Given the description of an element on the screen output the (x, y) to click on. 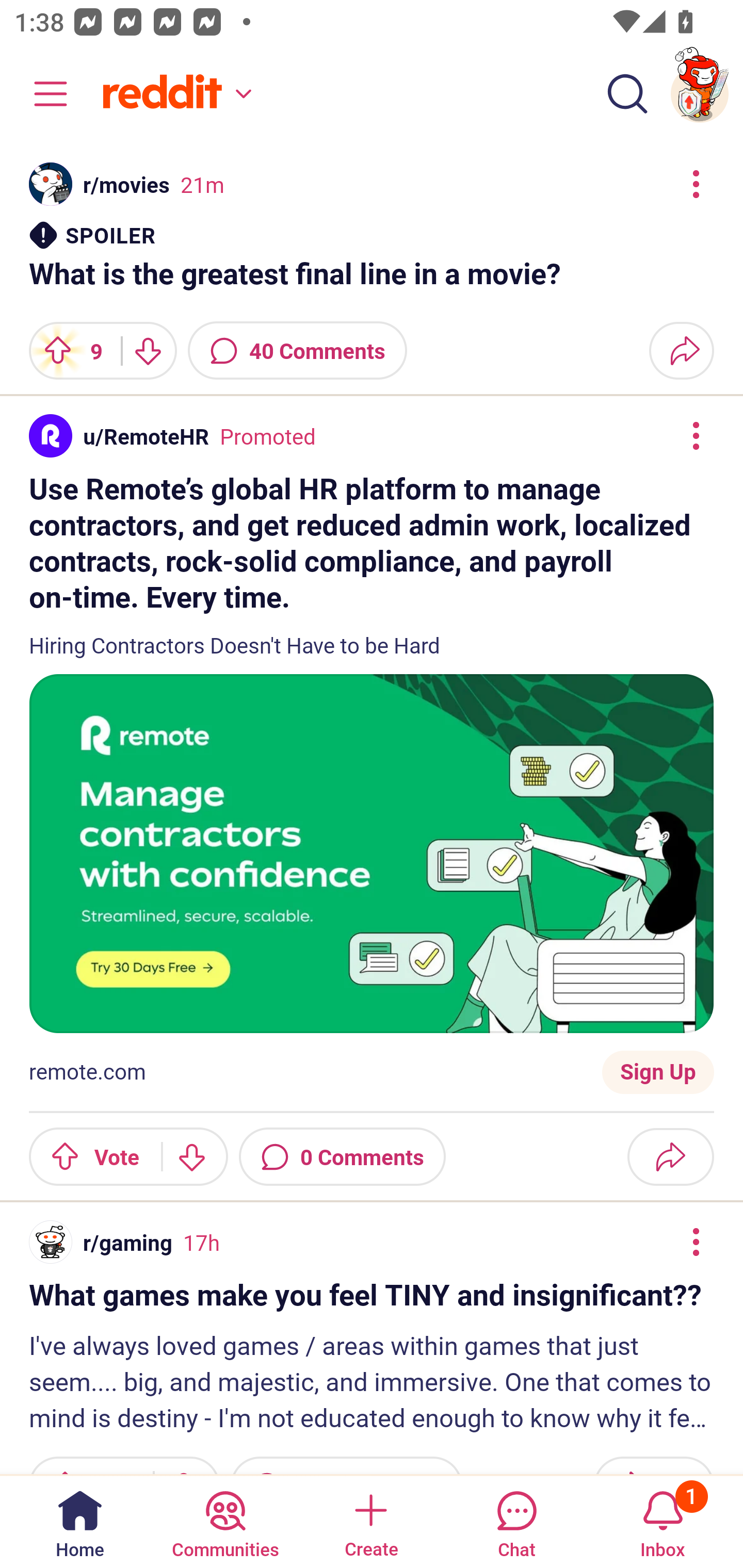
Search (626, 93)
TestAppium002 account (699, 93)
Community menu (41, 94)
Home feed (173, 94)
Home (80, 1520)
Communities (225, 1520)
Create a post Create (370, 1520)
Chat (516, 1520)
Inbox, has 1 notification 1 Inbox (662, 1520)
